Given the description of an element on the screen output the (x, y) to click on. 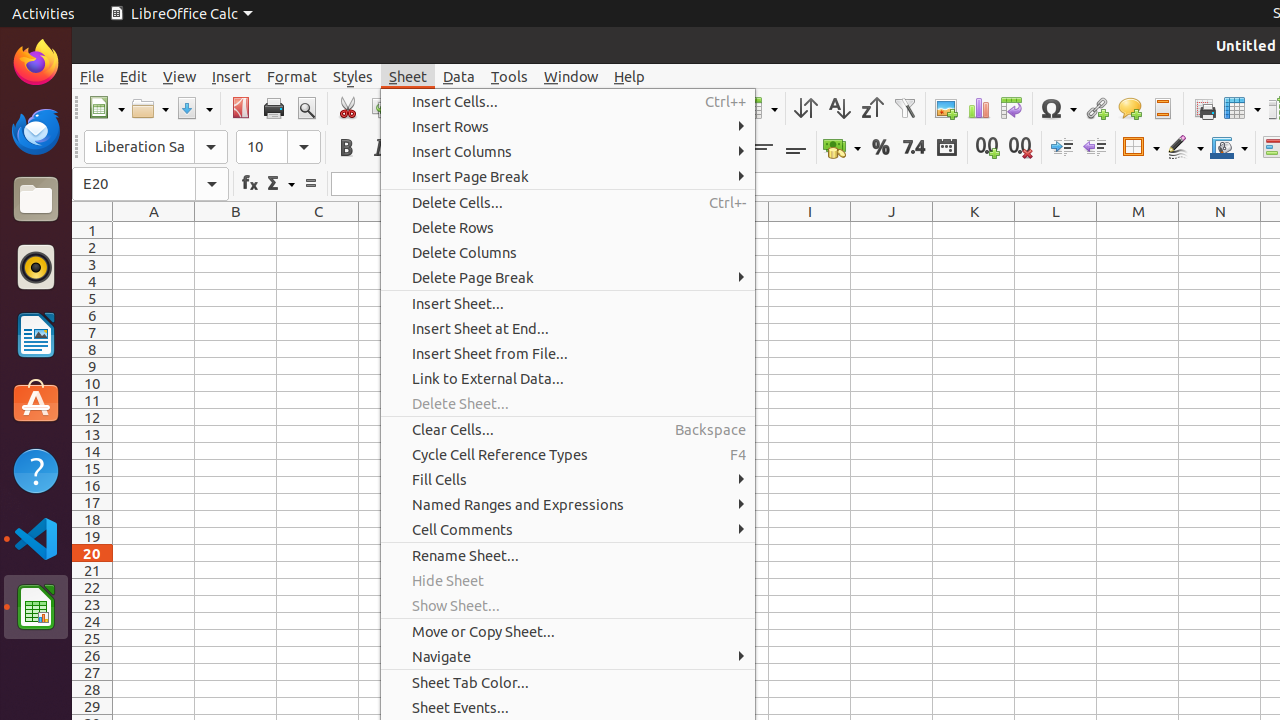
Image Element type: push-button (945, 108)
Hyperlink Element type: toggle-button (1096, 108)
Name Box Element type: combo-box (150, 184)
Fill Cells Element type: menu (568, 479)
Delete Page Break Element type: menu (568, 277)
